Given the description of an element on the screen output the (x, y) to click on. 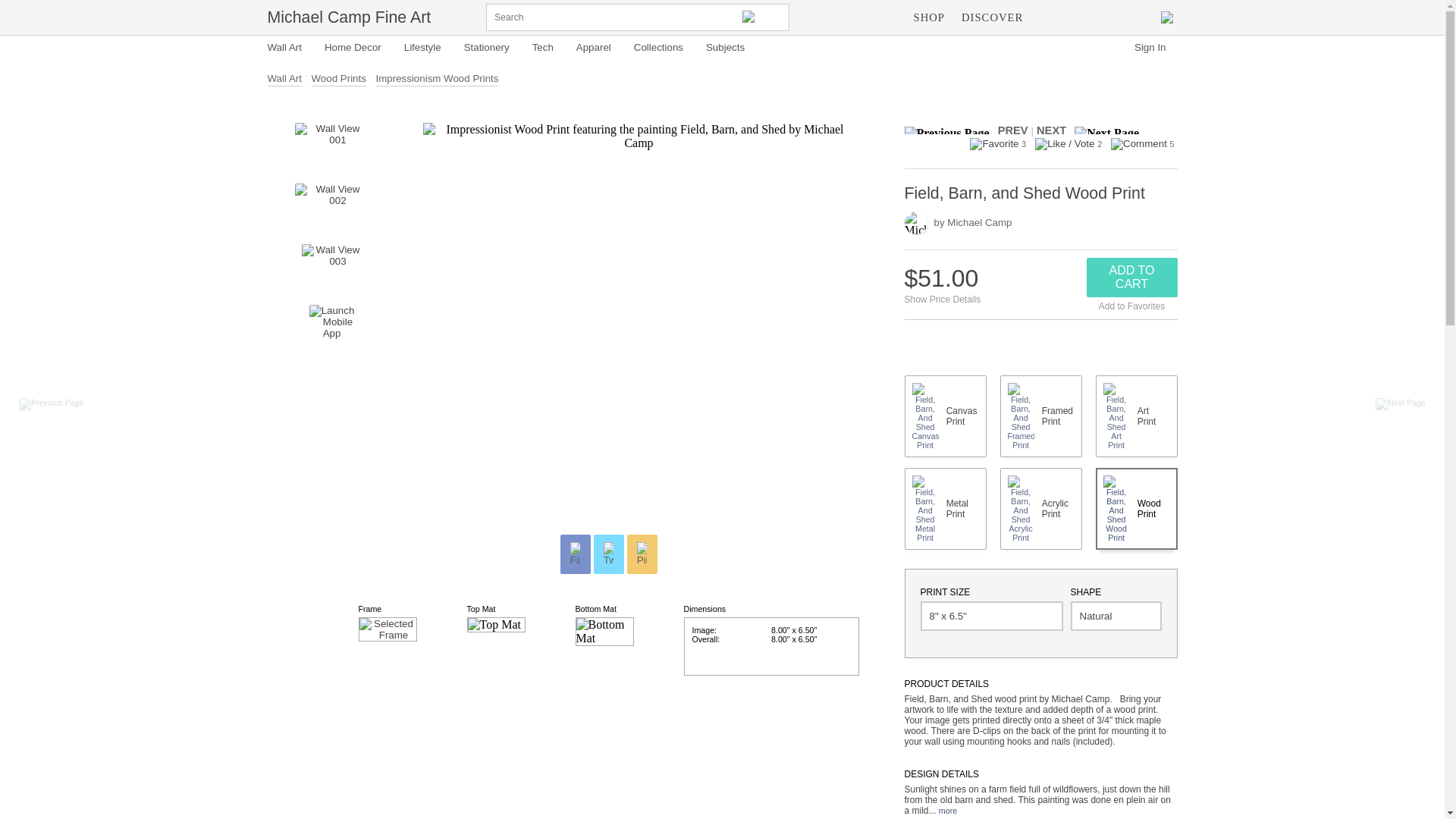
Wall View 002 (331, 206)
Wall View 001 (331, 145)
Comment (1138, 143)
Selected Frame (387, 629)
Michael Camp Fine Art (348, 16)
Favorite (993, 143)
Top Mat (496, 624)
SHOP (929, 16)
Bottom Mat (604, 631)
Launch Mobile App (331, 327)
DISCOVER (992, 16)
Wall View 003 (331, 266)
Search (762, 17)
